Given the description of an element on the screen output the (x, y) to click on. 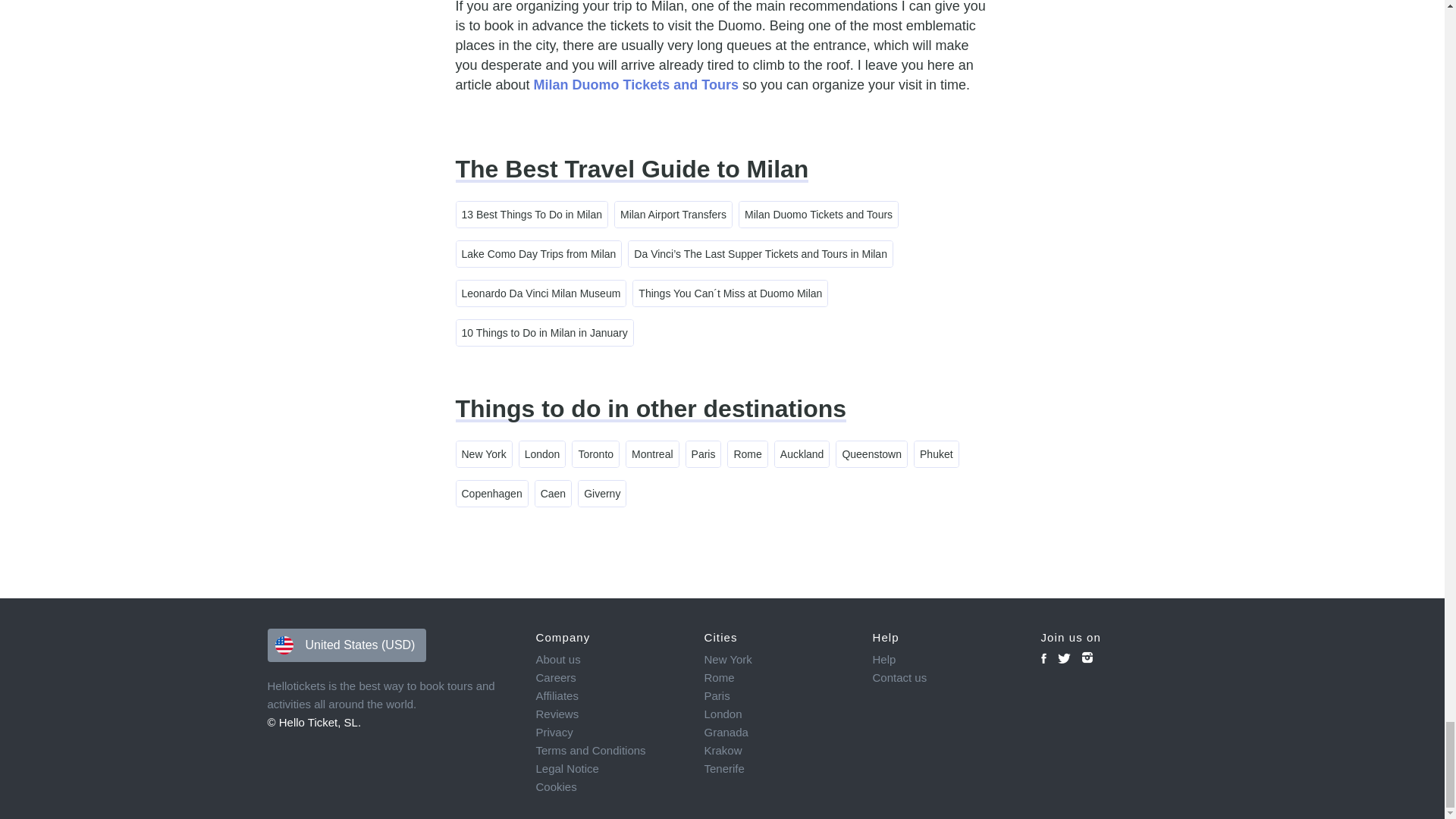
13 Best Things To Do in Milan (532, 214)
Montreal (652, 453)
Auckland (801, 453)
Toronto (595, 453)
New York (484, 453)
Milan Duomo Tickets and Tours (636, 84)
Milan Duomo Tickets and Tours (818, 214)
Things to do in other destinations (649, 408)
Lake Como Day Trips from Milan (539, 253)
Leonardo Da Vinci Milan Museum (541, 293)
